Given the description of an element on the screen output the (x, y) to click on. 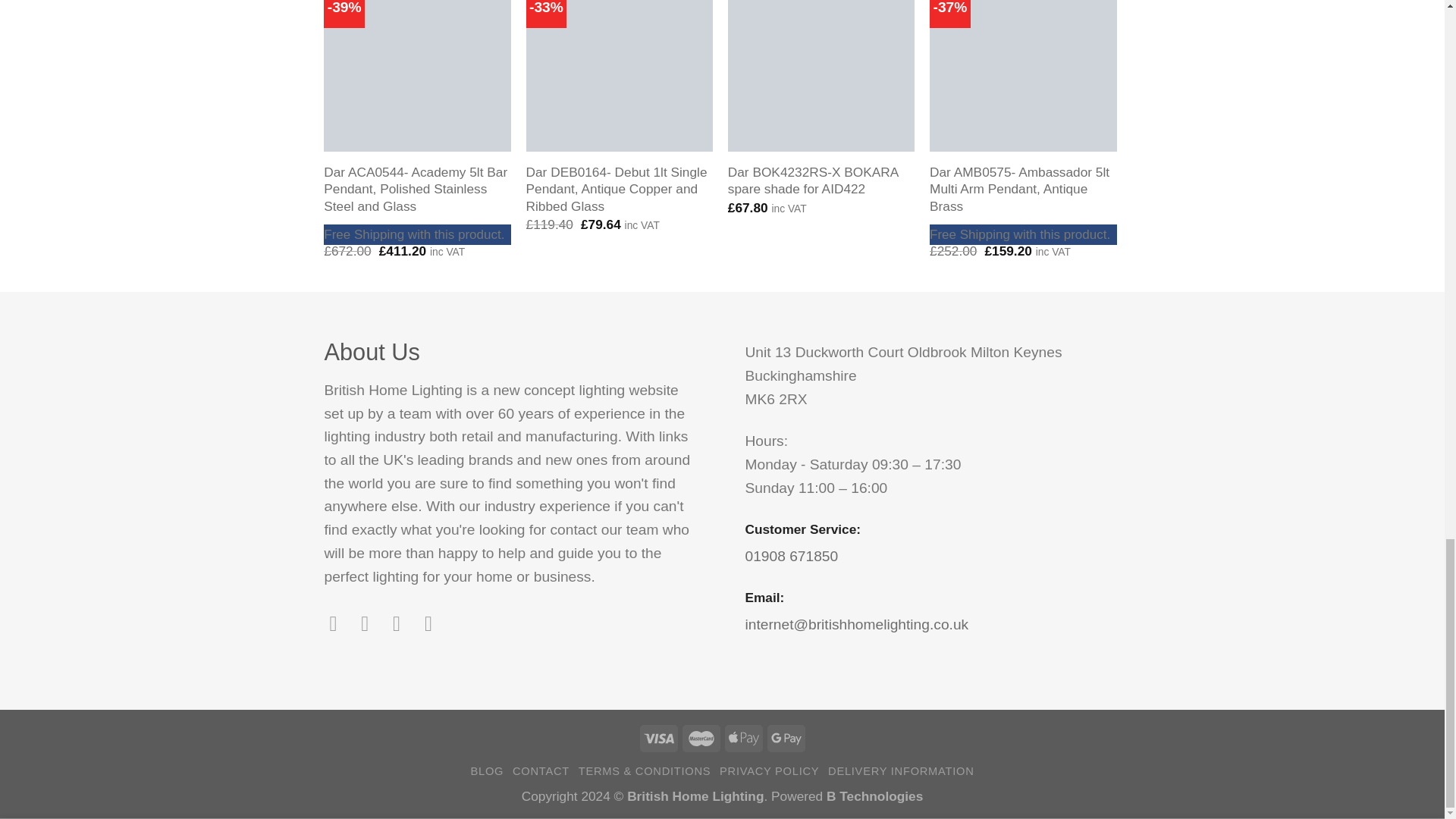
Dar BOK4232RS-X  BOKARA spare shade for AID422 (821, 76)
